Given the description of an element on the screen output the (x, y) to click on. 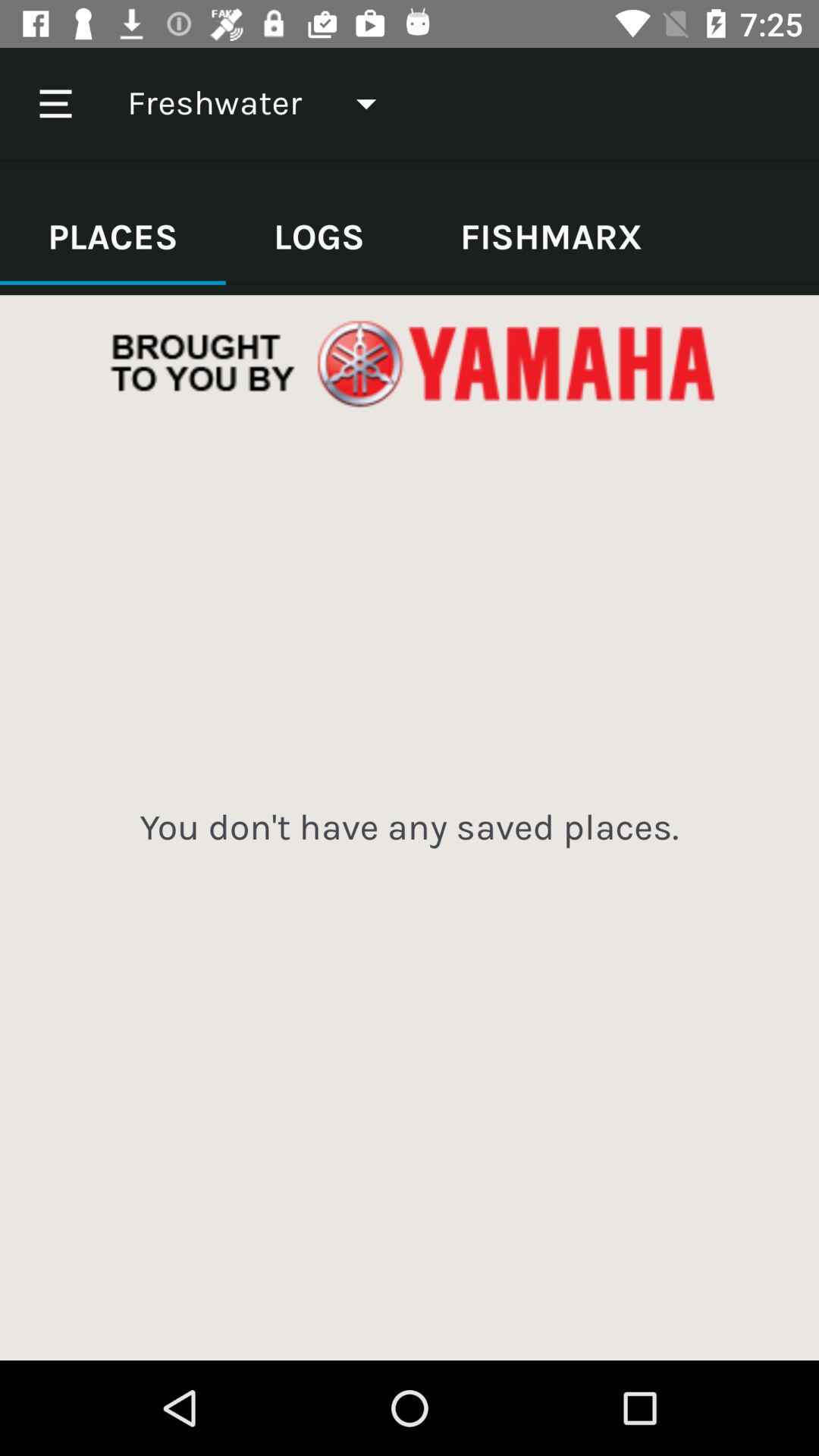
advertisement bar (409, 364)
